Given the description of an element on the screen output the (x, y) to click on. 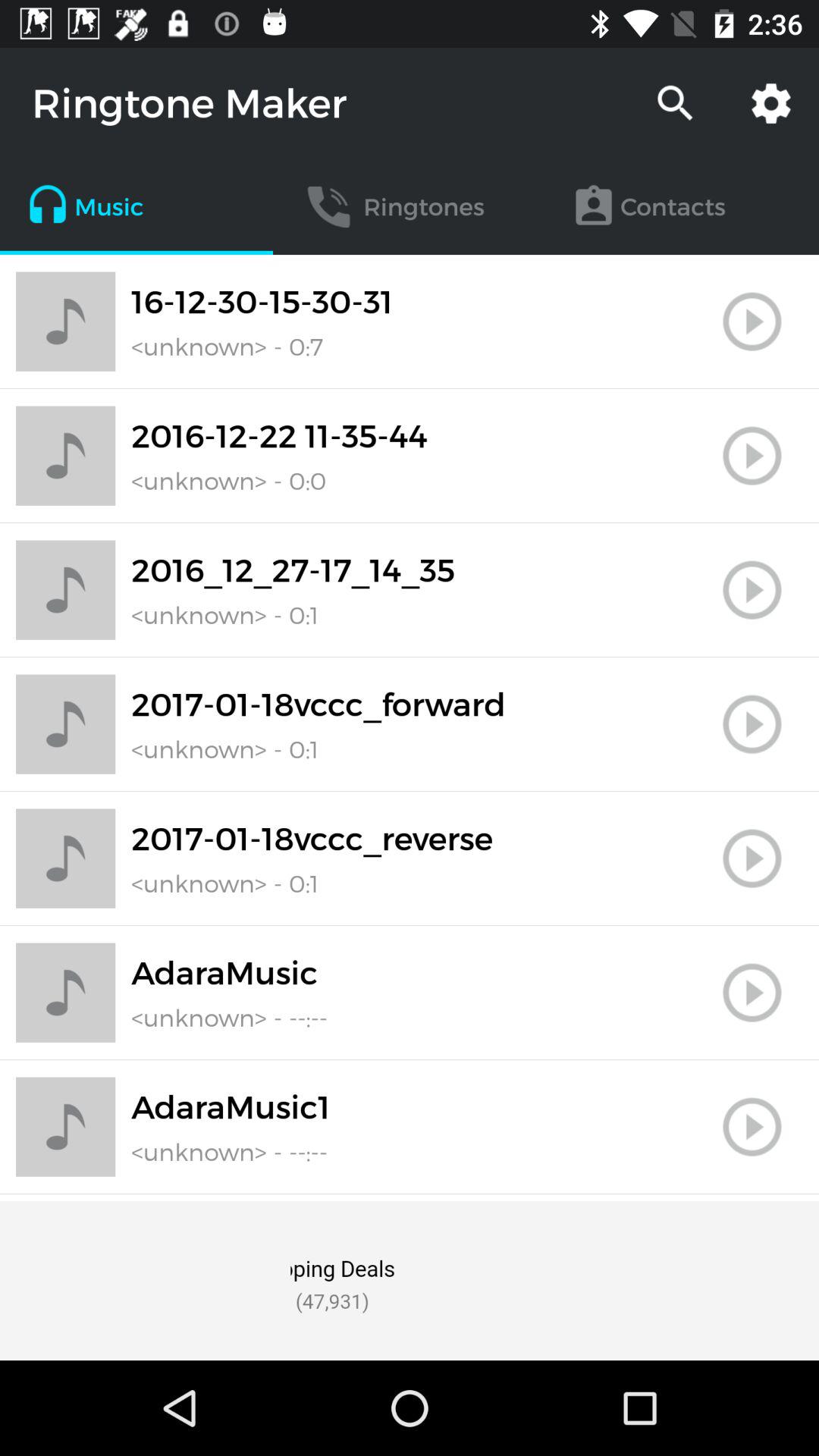
play song (752, 724)
